Given the description of an element on the screen output the (x, y) to click on. 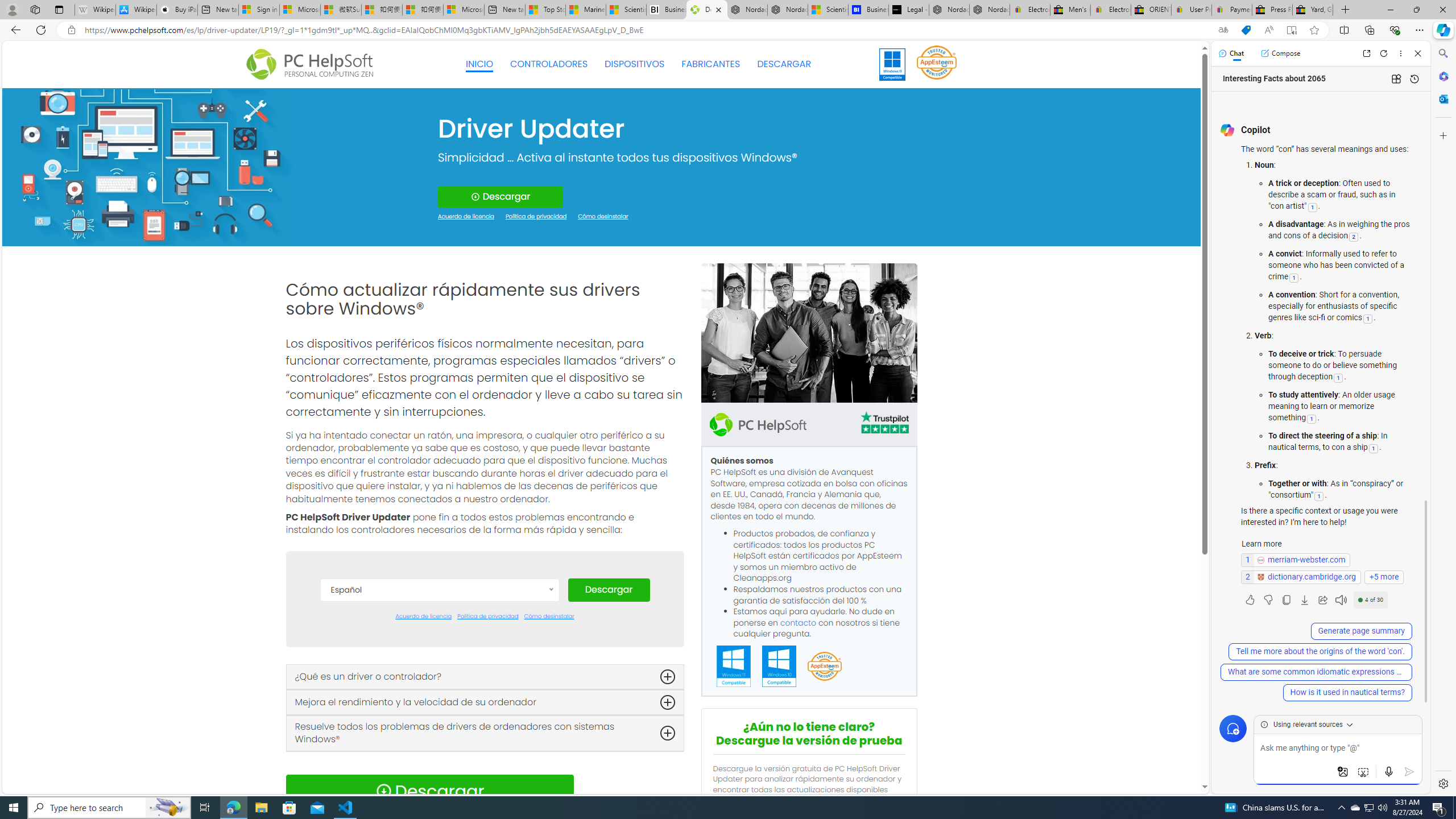
Norsk (439, 780)
Payments Terms of Use | eBay.com (1231, 9)
Windows 11 Compatible (733, 666)
Italiano (439, 746)
Download Icon Descargar (429, 790)
